Given the description of an element on the screen output the (x, y) to click on. 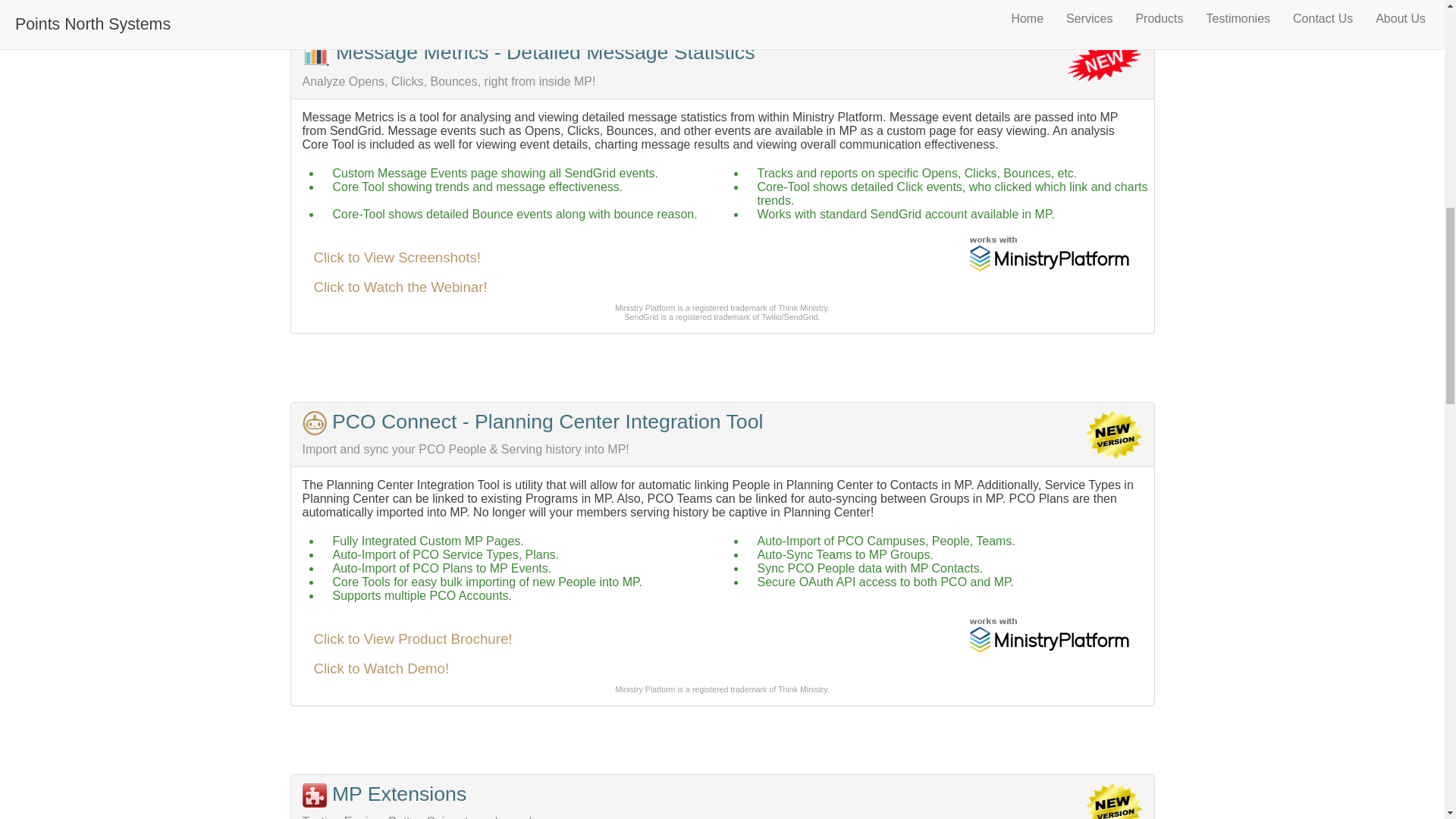
Click to View Product Brochure! (413, 638)
Click to Watch the Webinar! (400, 286)
Click to View Screenshots! (397, 257)
Click to Watch Demo! (381, 668)
